Given the description of an element on the screen output the (x, y) to click on. 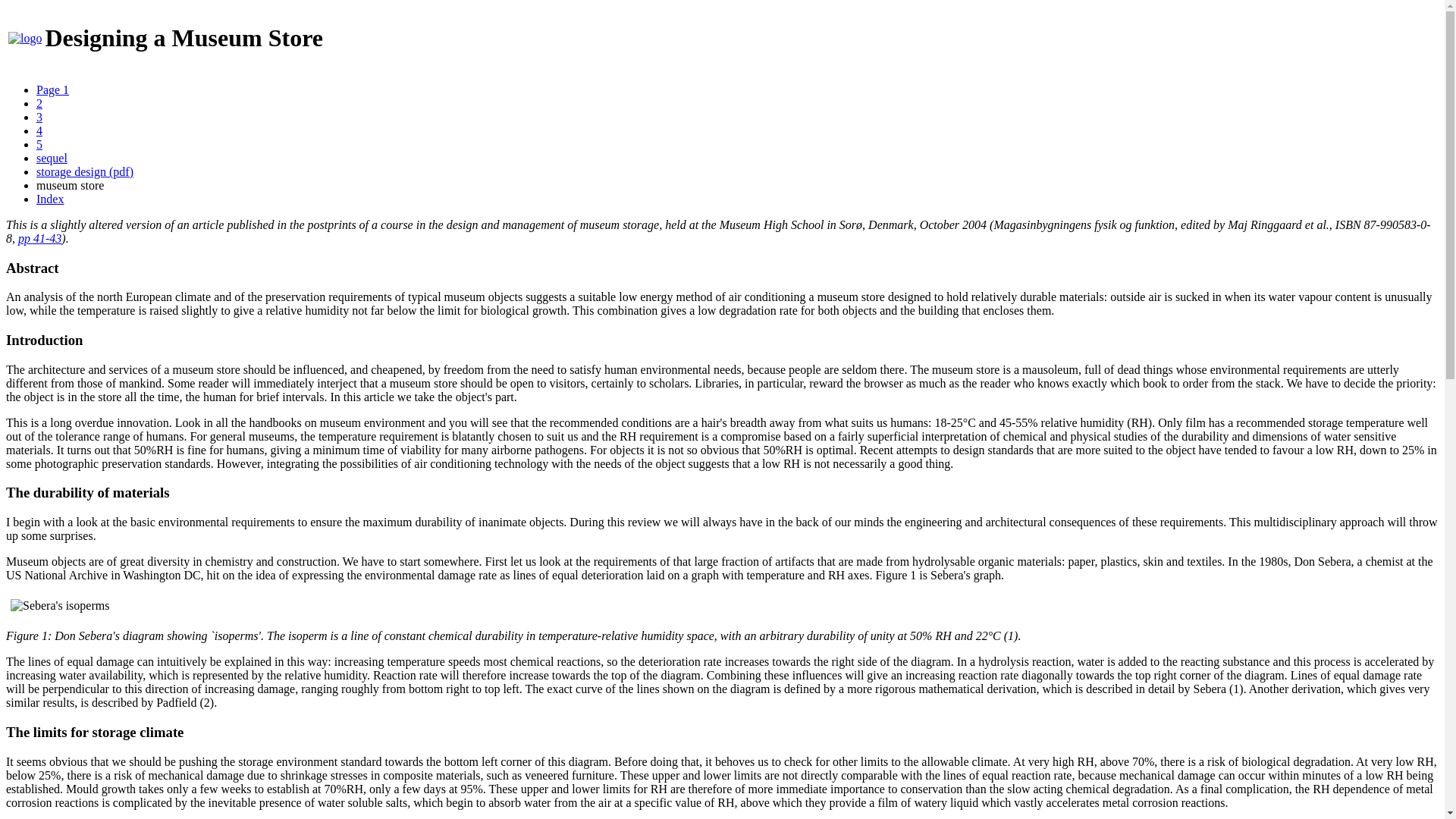
pp 41-43 (39, 237)
sequel (51, 157)
Index (50, 198)
Page 1 (52, 89)
